Given the description of an element on the screen output the (x, y) to click on. 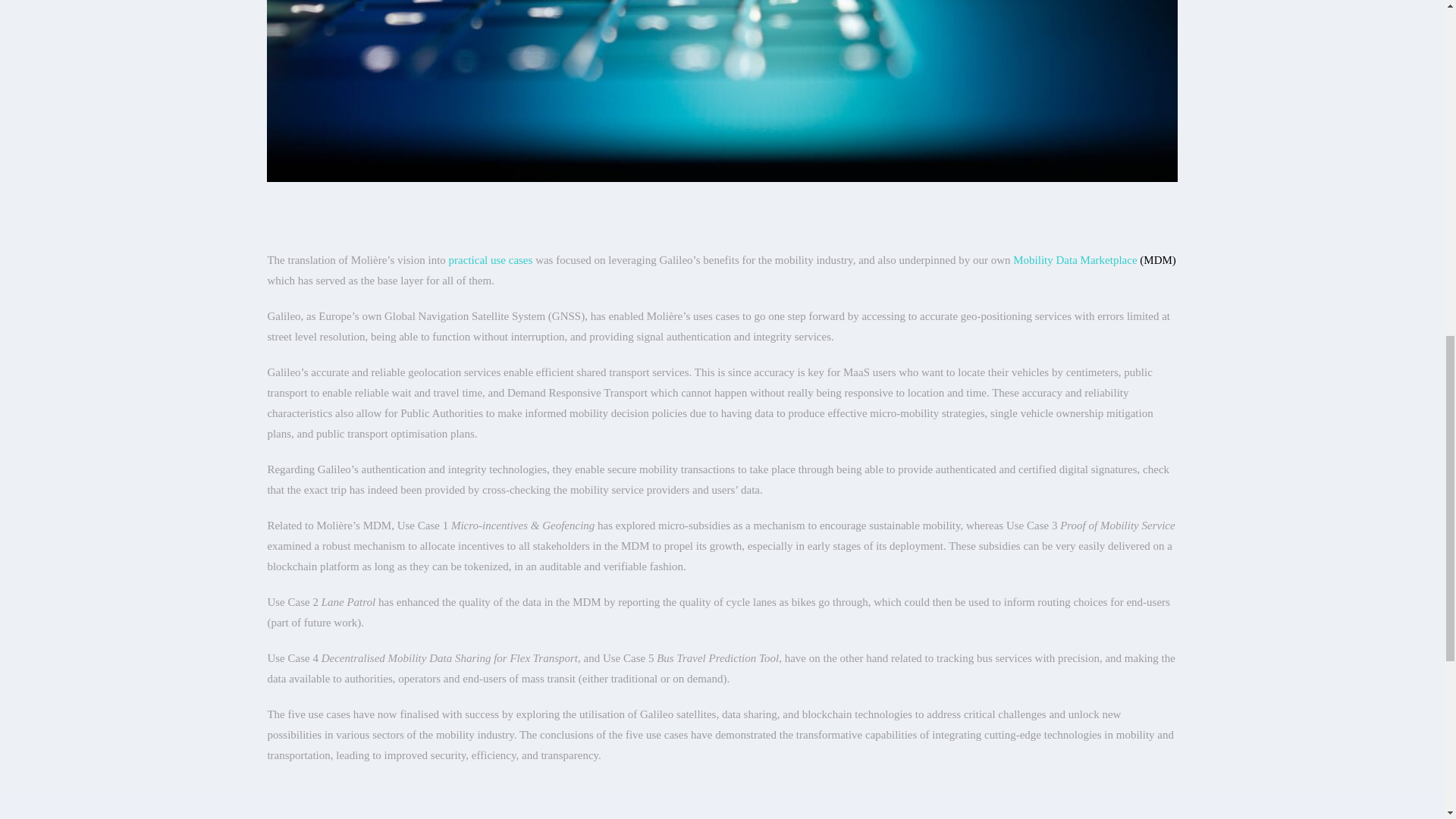
Mobility Data Marketplace (1075, 259)
practical use cases (490, 259)
